Given the description of an element on the screen output the (x, y) to click on. 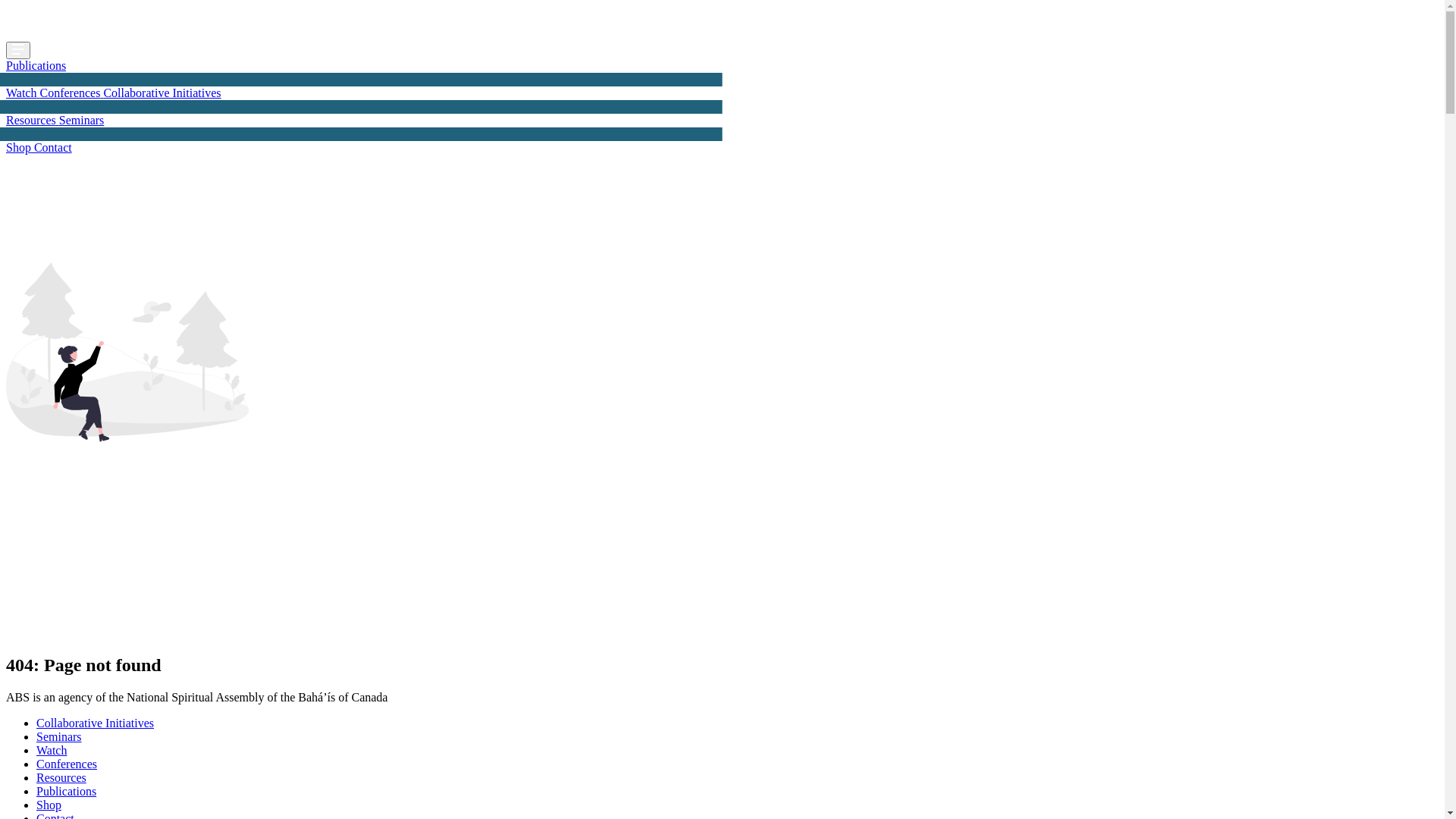
Collaborative Initiatives Element type: text (94, 722)
Resources Element type: text (32, 119)
Shop Element type: text (48, 804)
Conferences Element type: text (66, 763)
Conferences Element type: text (71, 92)
Watch Element type: text (22, 92)
Watch Element type: text (51, 749)
Publications Element type: text (66, 790)
Seminars Element type: text (58, 736)
Publications Element type: text (35, 65)
Shop Element type: text (20, 147)
Collaborative Initiatives Element type: text (161, 92)
Contact Element type: text (53, 147)
Resources Element type: text (61, 777)
Seminars Element type: text (81, 119)
